Given the description of an element on the screen output the (x, y) to click on. 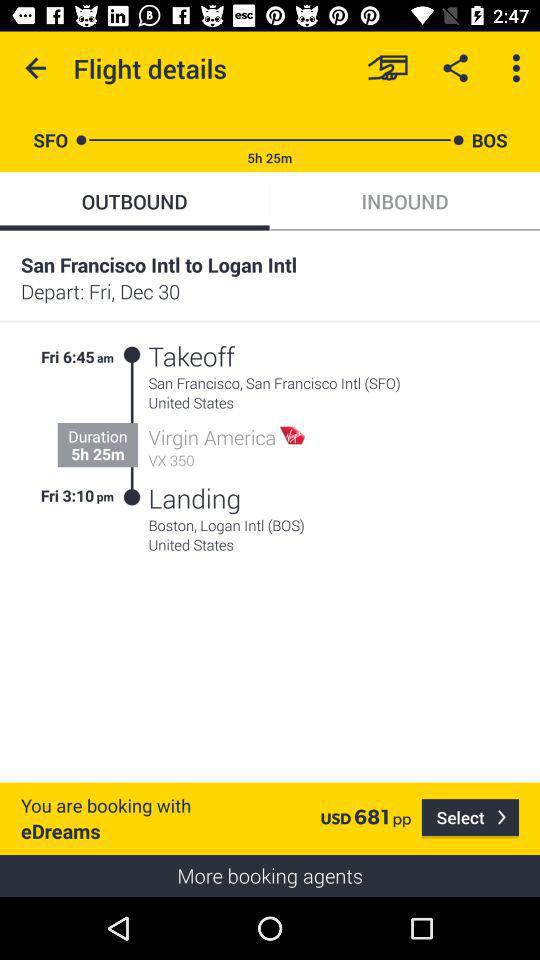
press item above you are booking icon (105, 495)
